Given the description of an element on the screen output the (x, y) to click on. 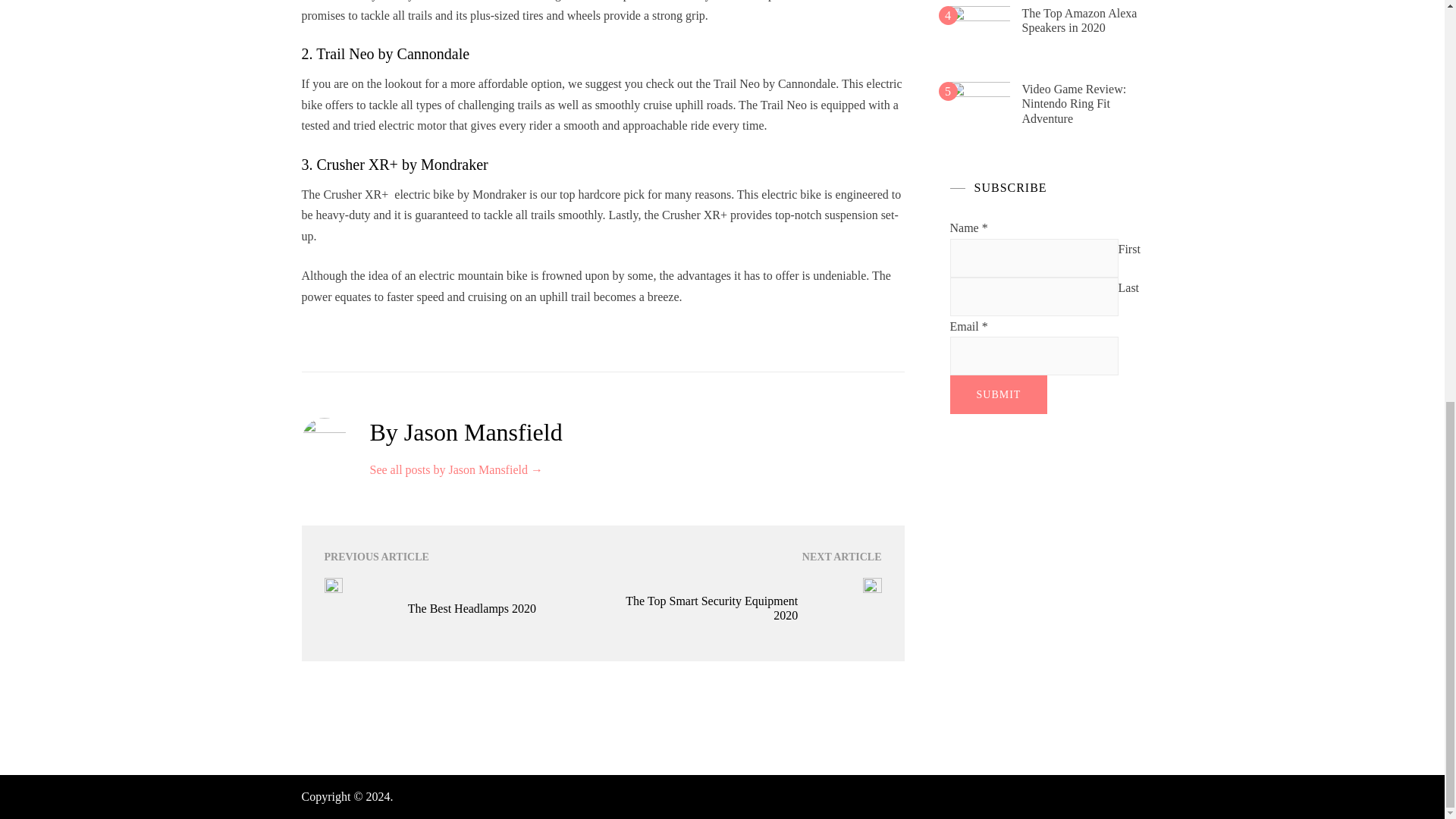
The Best Headlamps 2020 (504, 608)
The Top Smart Security Equipment 2020 (699, 607)
The Top Amazon Alexa Speakers in 2020 (1079, 20)
Video Game Review: Nintendo Ring Fit Adventure (1073, 103)
SUBMIT (997, 394)
